Given the description of an element on the screen output the (x, y) to click on. 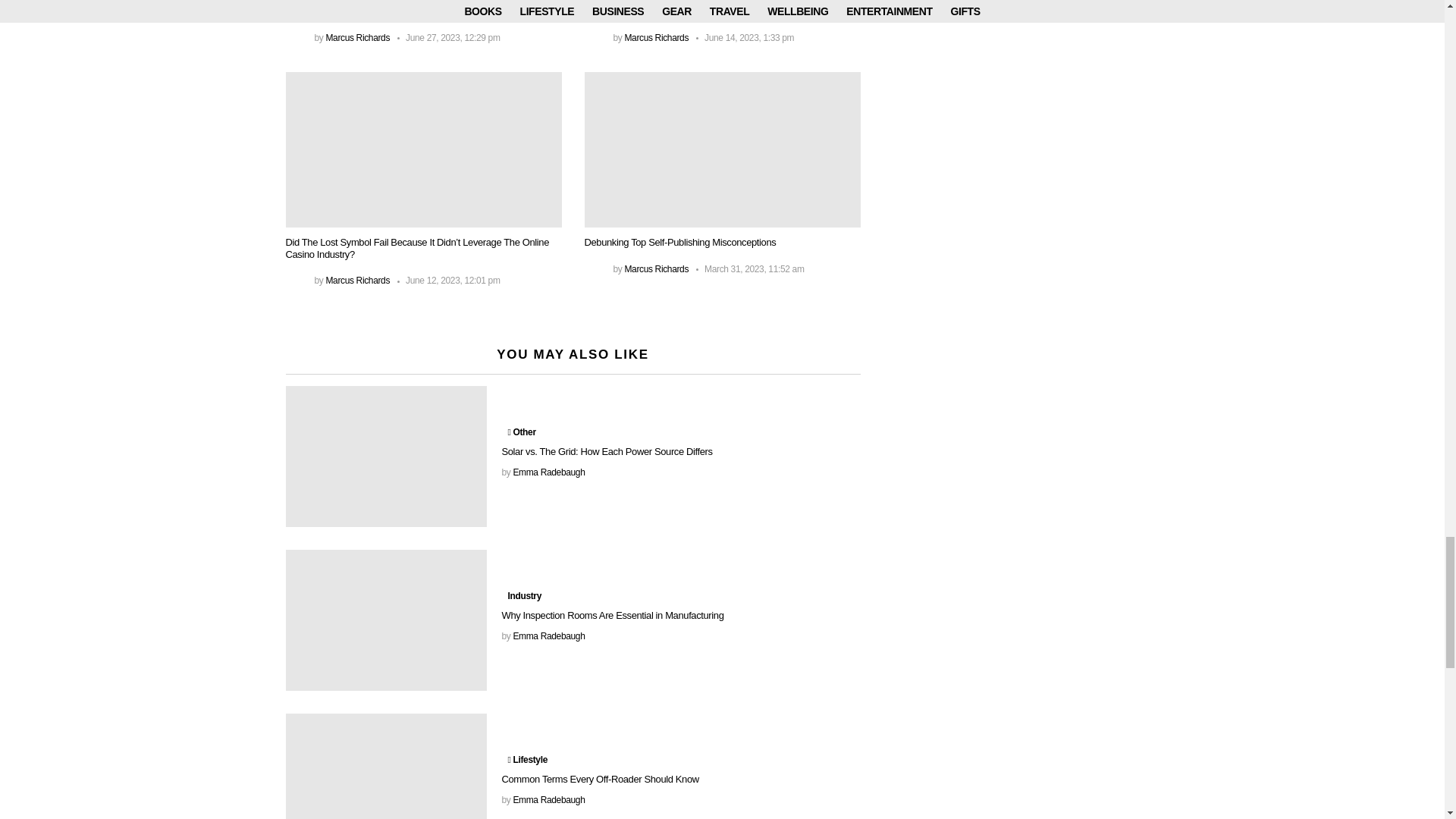
Debunking Top Self-Publishing Misconceptions (721, 149)
Posts by Emma Radebaugh (548, 635)
Common Terms Every Off-Roader Should Know (385, 766)
Posts by Emma Radebaugh (548, 471)
Posts by Marcus Richards (357, 280)
Posts by Marcus Richards (357, 37)
Posts by Marcus Richards (656, 37)
Solar vs. The Grid: How Each Power Source Differs (385, 456)
Why Inspection Rooms Are Essential in Manufacturing (385, 620)
Posts by Marcus Richards (656, 268)
